Given the description of an element on the screen output the (x, y) to click on. 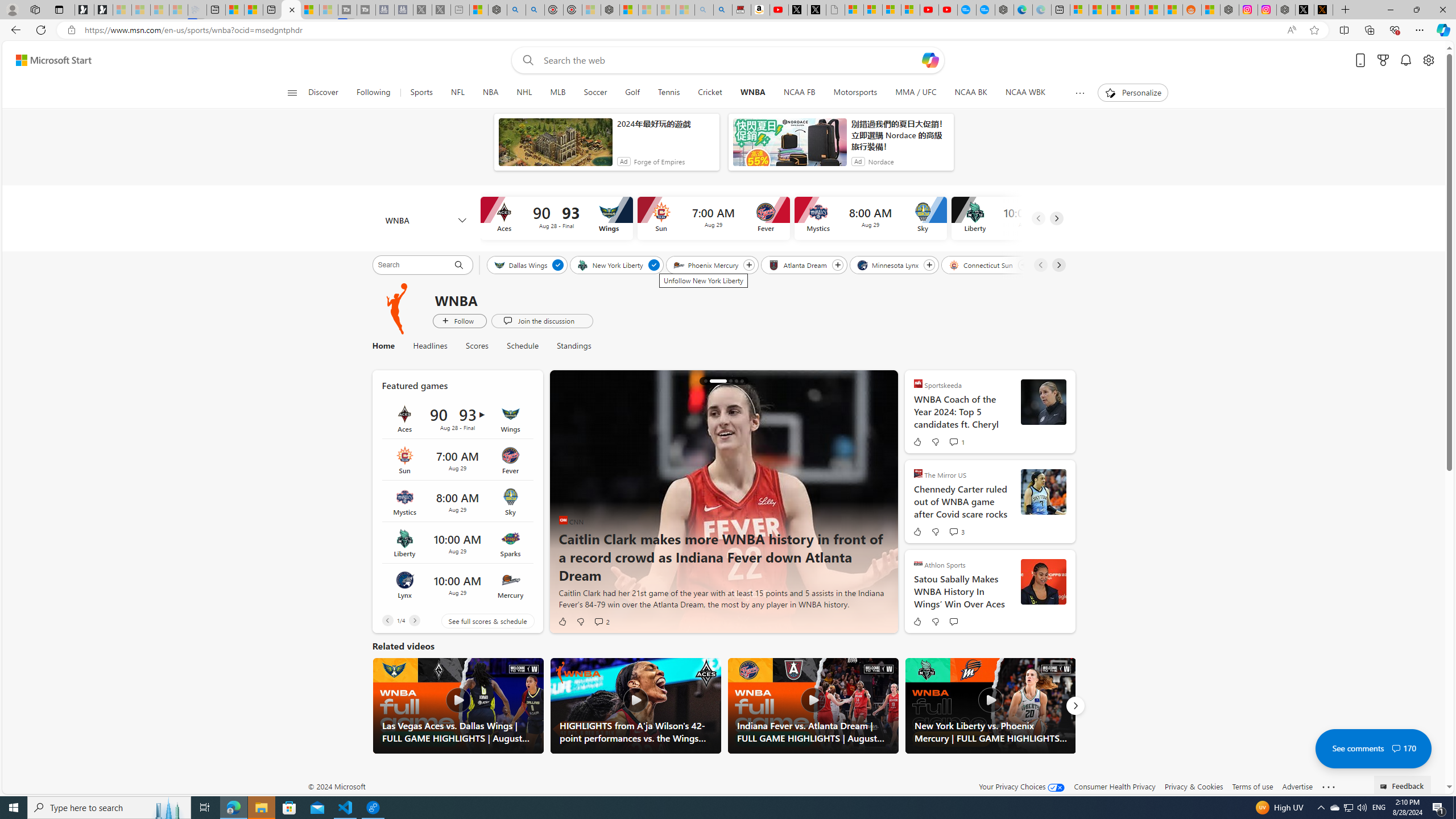
Start the conversation (953, 621)
Atlanta Dream (798, 264)
Motorsports (854, 92)
Enter your search term (730, 59)
Privacy & Cookies (1193, 786)
Cricket (709, 92)
WNBA (752, 92)
MMA / UFC (915, 92)
Start the conversation (952, 621)
See full scores & schedule (478, 620)
